Given the description of an element on the screen output the (x, y) to click on. 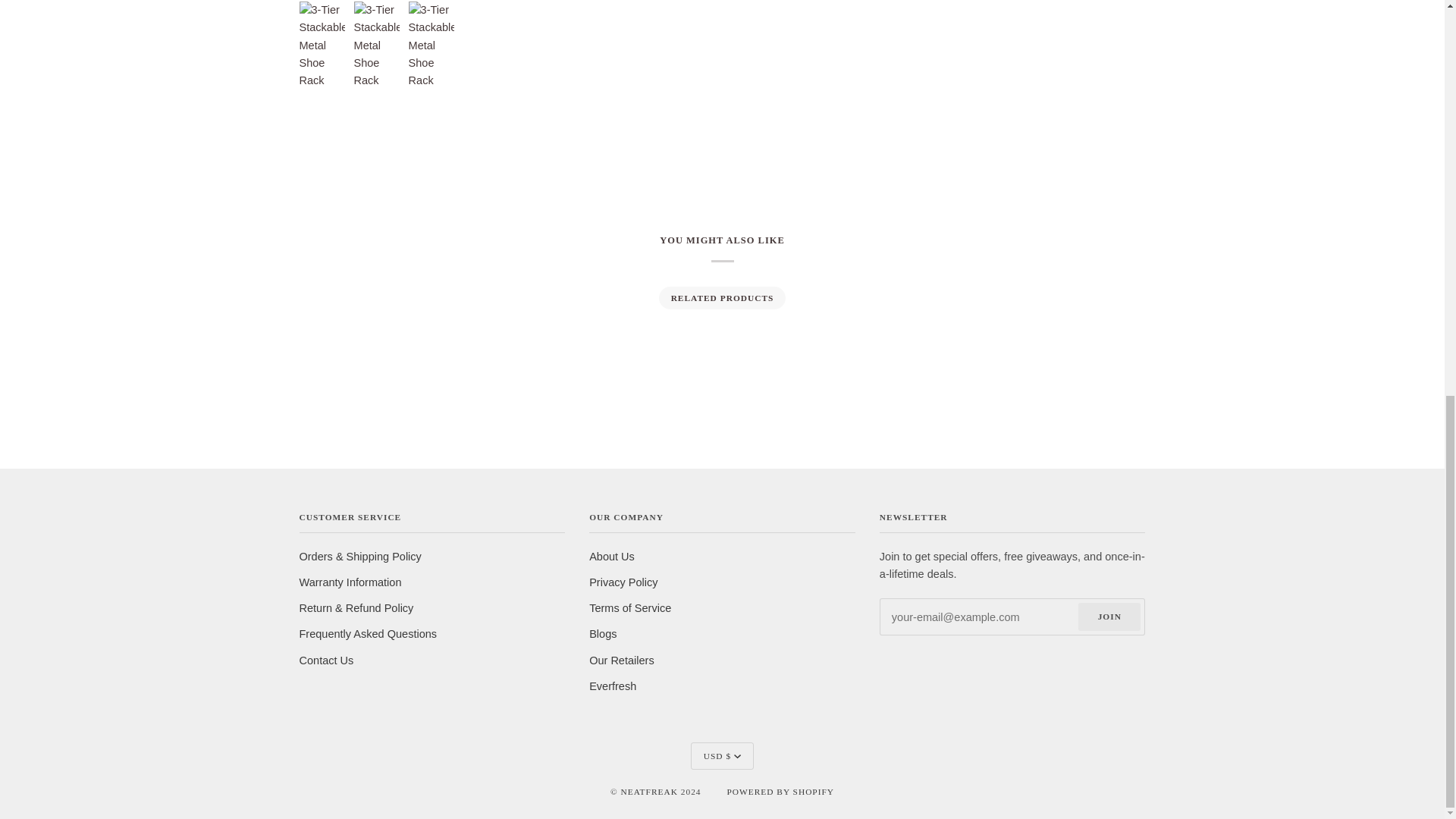
RELATED PRODUCTS (721, 297)
